Given the description of an element on the screen output the (x, y) to click on. 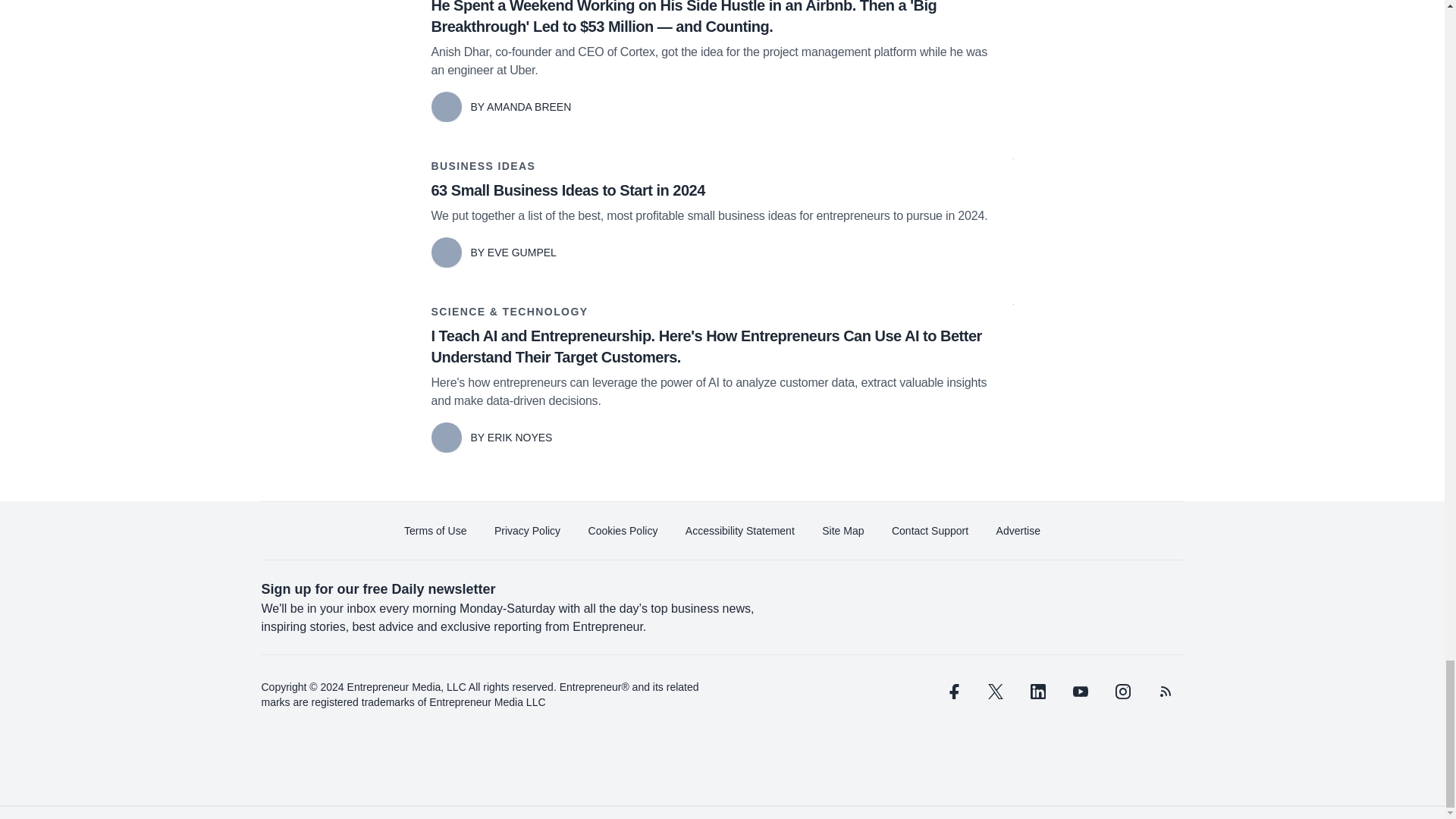
rss (1164, 691)
linkedin (1037, 691)
twitter (994, 691)
youtube (1079, 691)
facebook (952, 691)
instagram (1121, 691)
